Given the description of an element on the screen output the (x, y) to click on. 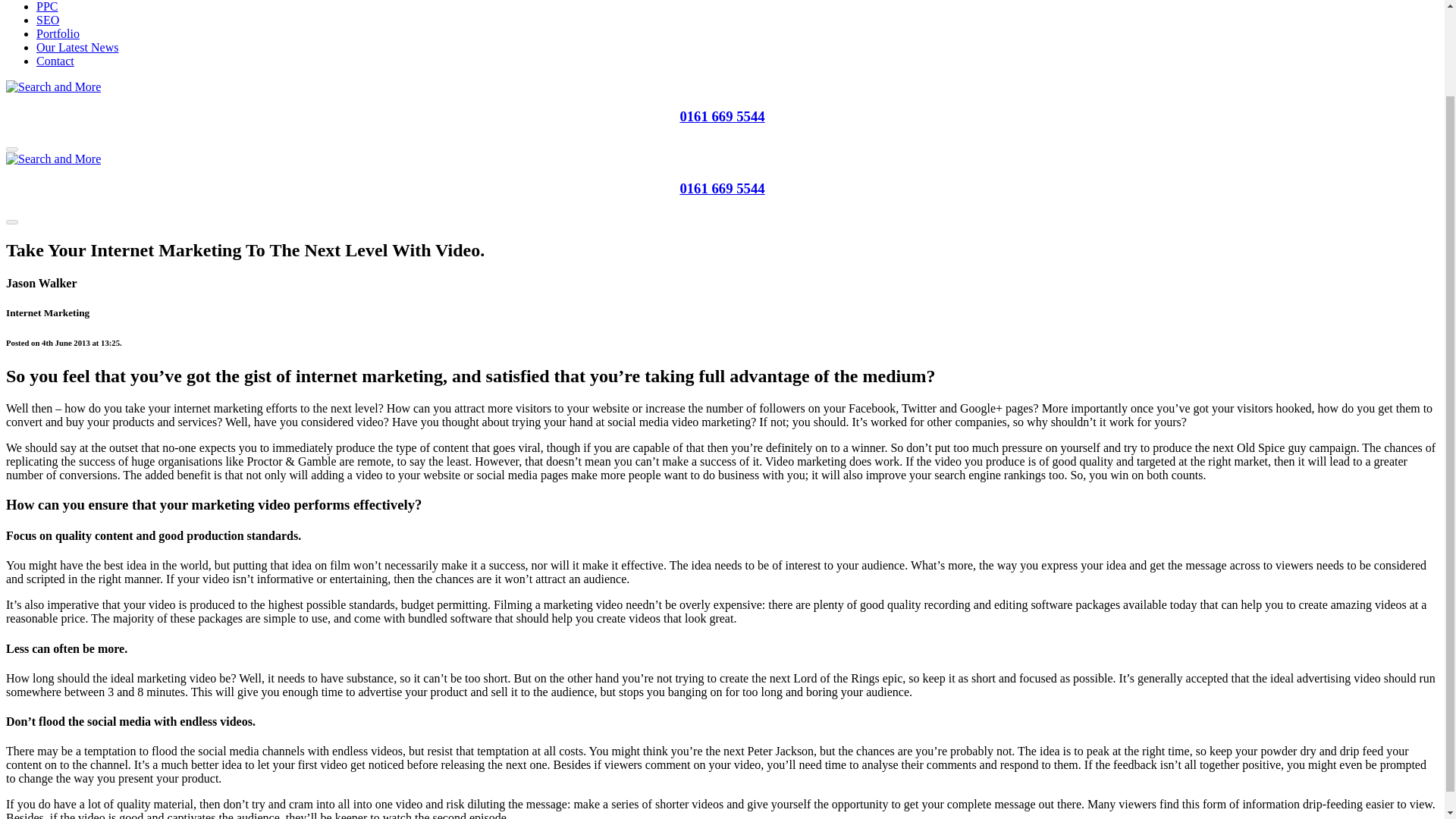
0161 669 5544 (721, 116)
Contact (55, 60)
PPC (47, 6)
Contact (55, 60)
SEO (47, 19)
Our Latest News (76, 47)
Our Latest News (76, 47)
SEO (47, 19)
Portfolio (58, 33)
Portfolio (58, 33)
0161 669 5544 (721, 188)
PPC (47, 6)
